Given the description of an element on the screen output the (x, y) to click on. 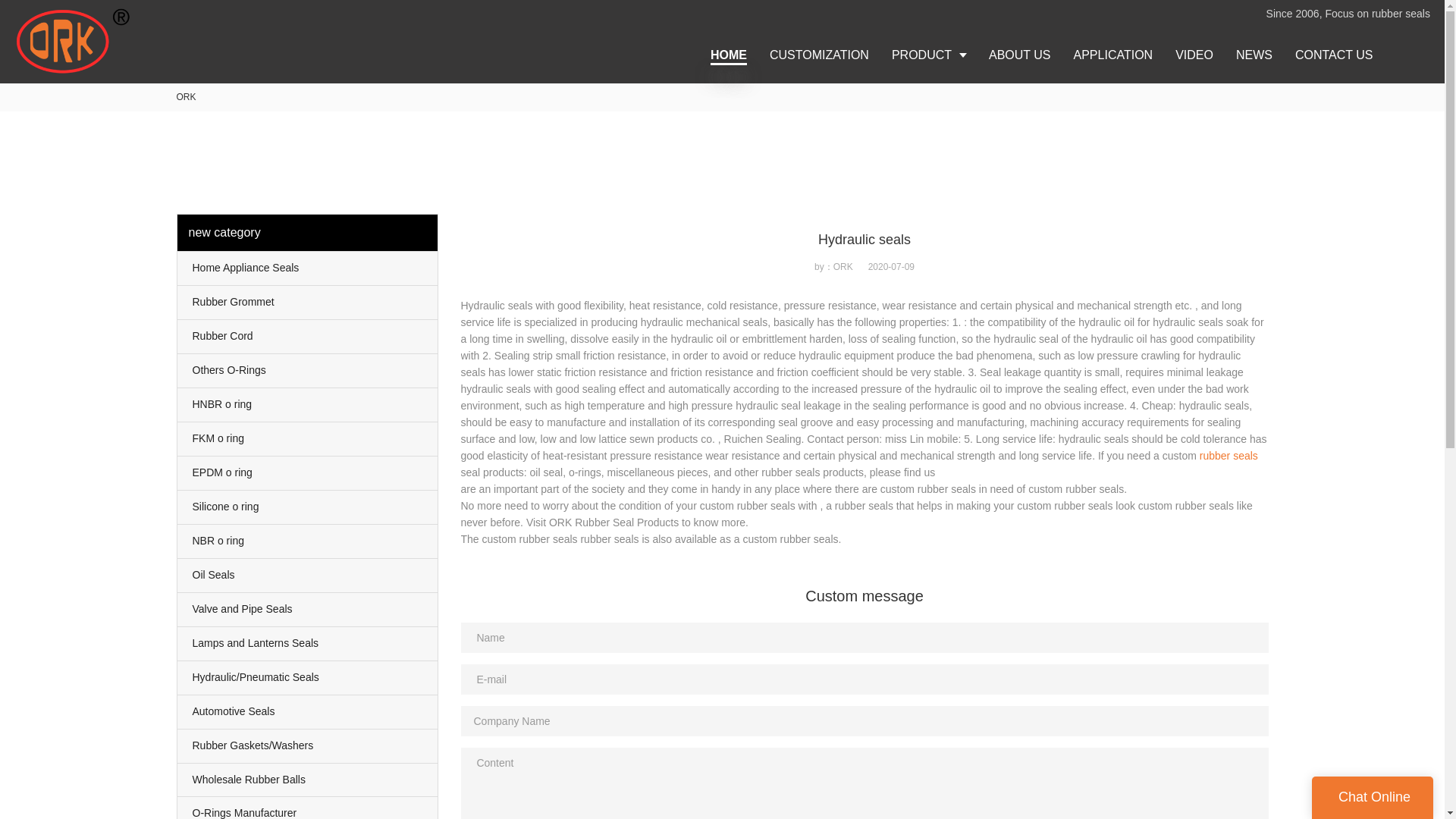
NEWS (1254, 55)
Automotive Seals (307, 711)
Lamps and Lanterns Seals (307, 643)
Oil Seals (307, 575)
O-Rings Manufacturer (307, 807)
Silicone o ring (307, 507)
Wholesale Rubber Balls (307, 779)
Others O-Rings (307, 370)
Rubber Cord (307, 336)
ABOUT US (1019, 55)
NBR o ring (307, 540)
ORK (185, 96)
HOME (728, 55)
APPLICATION (1113, 55)
Rubber Grommet (307, 302)
